Given the description of an element on the screen output the (x, y) to click on. 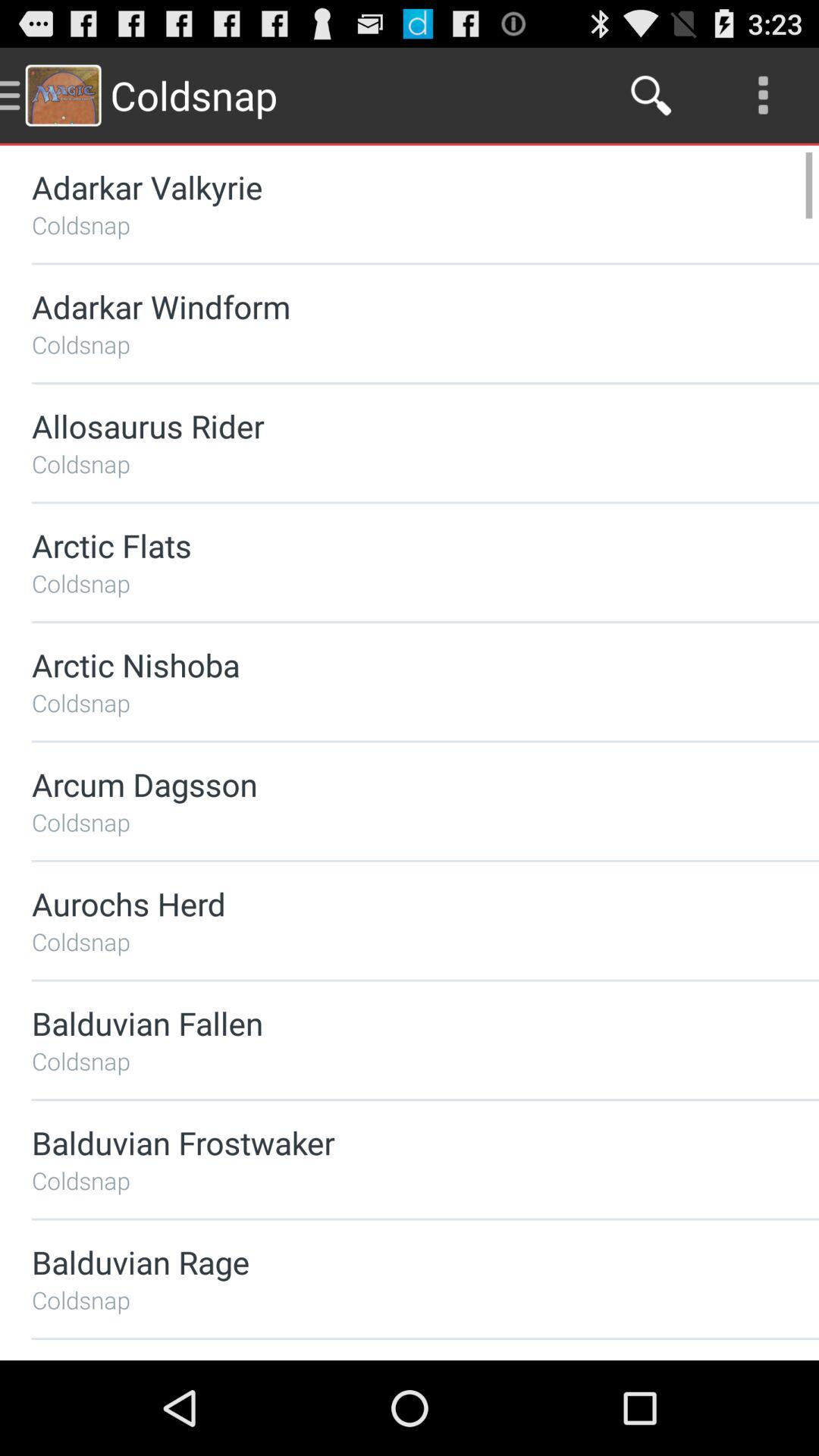
scroll to arcum dagsson app (385, 783)
